Given the description of an element on the screen output the (x, y) to click on. 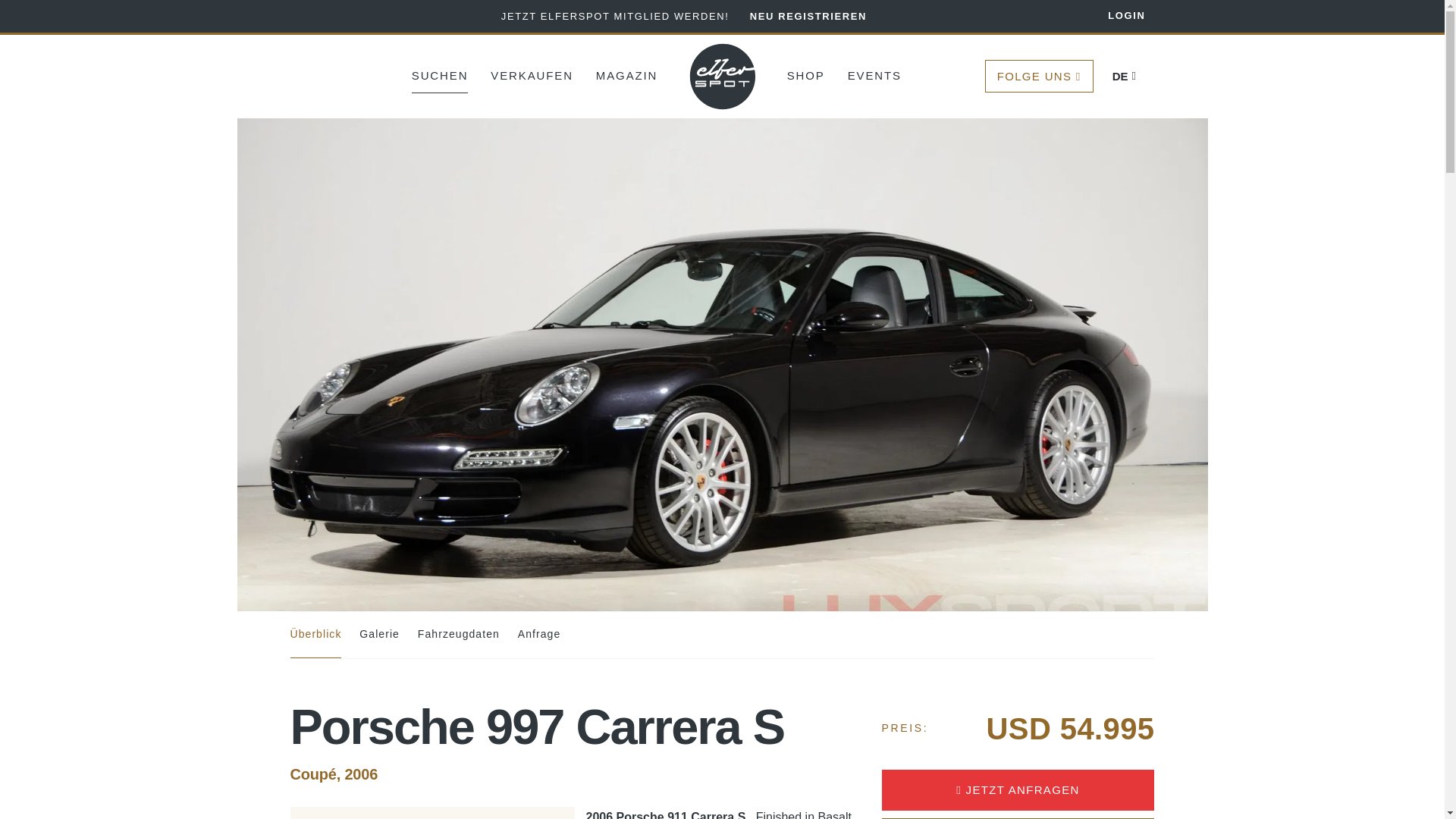
SUCHEN (440, 74)
LOGIN (1115, 16)
Elferspot (722, 76)
Magazin (626, 74)
VERKAUFEN (531, 74)
MAGAZIN (626, 74)
Shop (806, 74)
Suchen (440, 74)
JETZT ELFERSPOT MITGLIED WERDEN! NEU REGISTRIEREN (683, 15)
Events (874, 74)
